Given the description of an element on the screen output the (x, y) to click on. 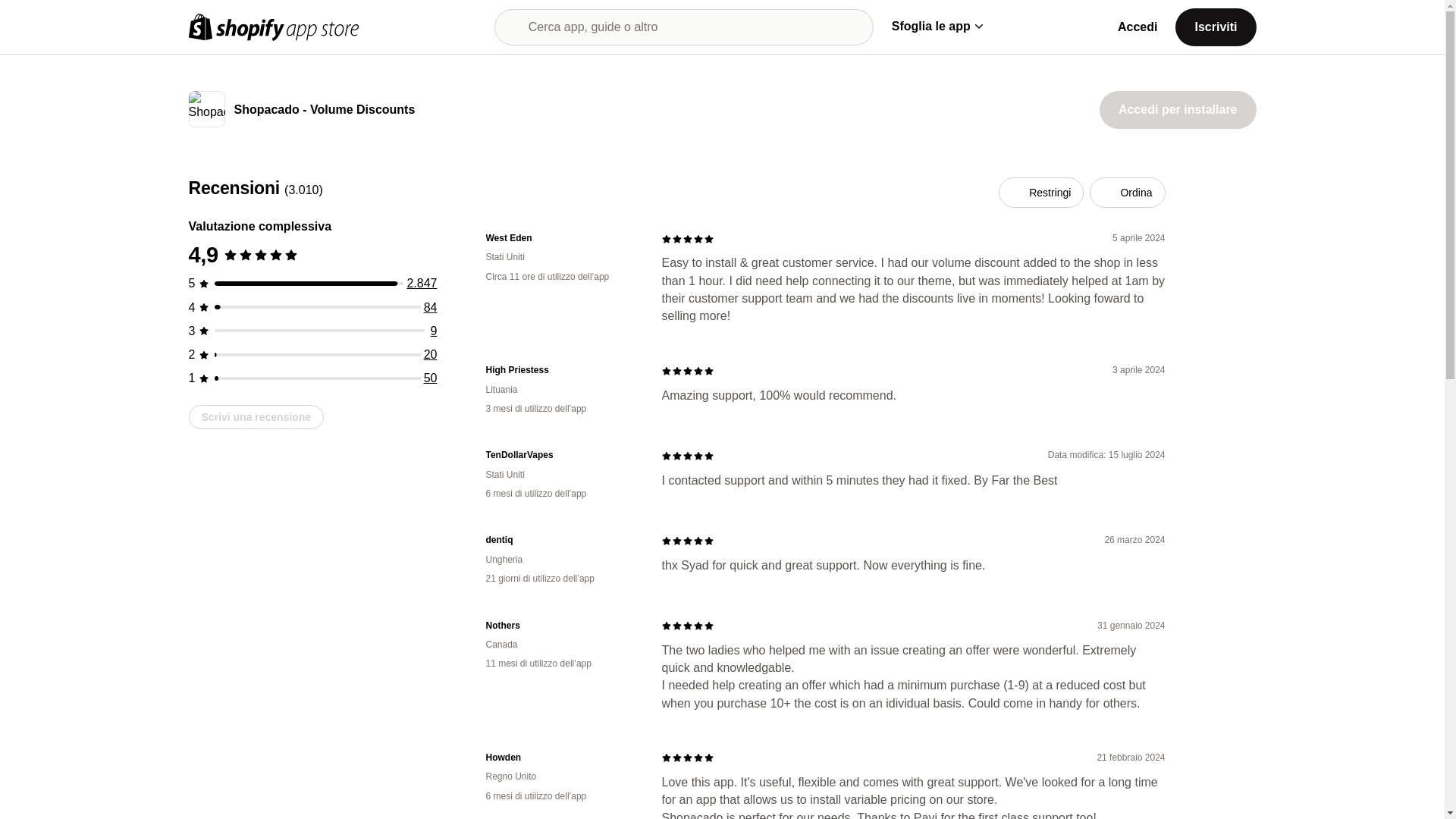
West Eden (560, 237)
TenDollarVapes (560, 454)
High Priestess (560, 369)
Accedi (1137, 27)
20 (430, 354)
Iscriviti (1214, 26)
Sfoglia le app (936, 26)
Accedi per installare (1177, 109)
84 (430, 307)
Nothers (560, 625)
